Given the description of an element on the screen output the (x, y) to click on. 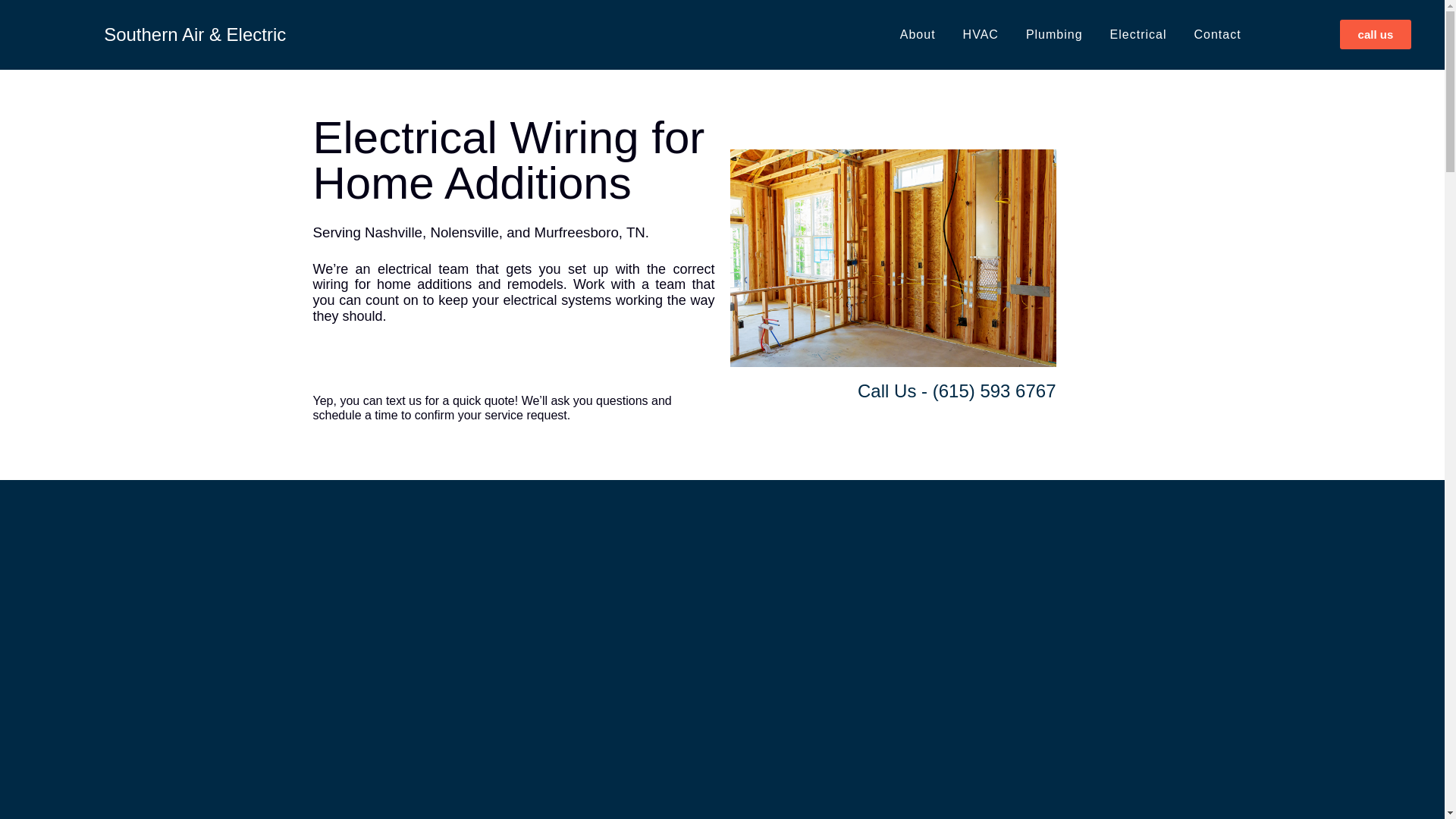
HVAC (980, 34)
Contact (1216, 34)
About (917, 34)
Electrical (1138, 34)
Plumbing (1053, 34)
